Given the description of an element on the screen output the (x, y) to click on. 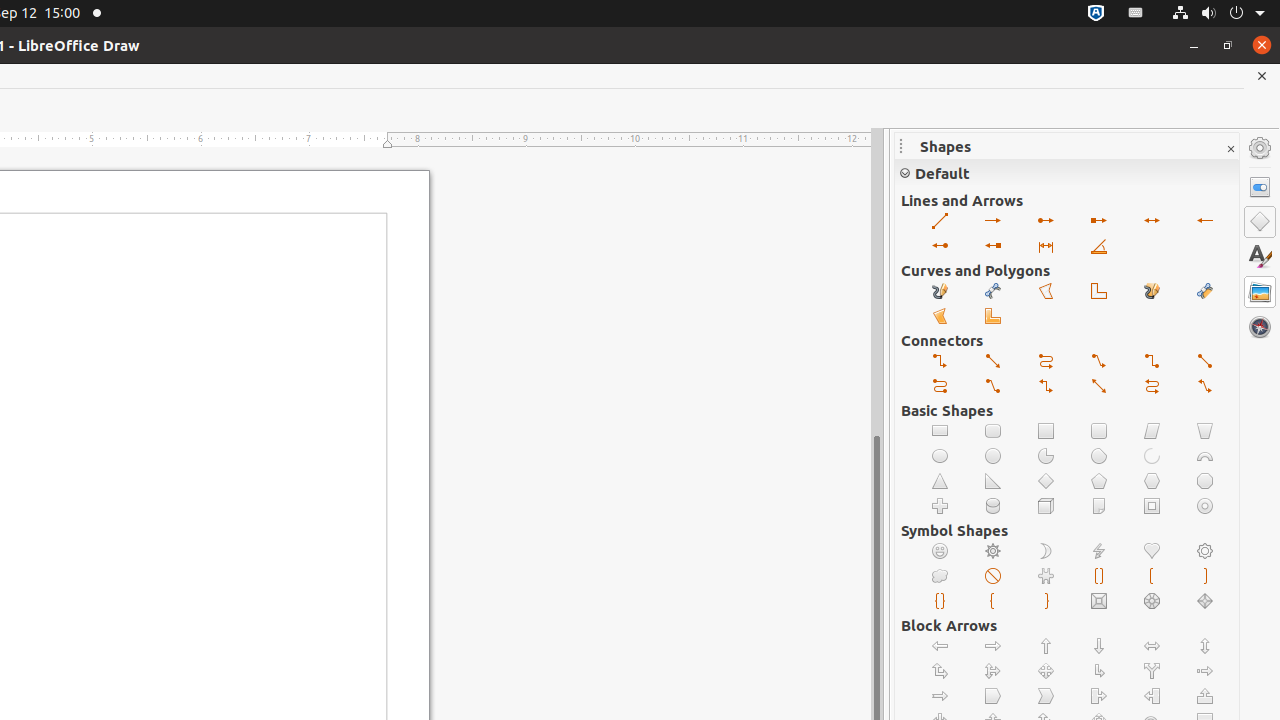
Straight Connector Element type: list-item (1205, 361)
Polygon (45°) Element type: list-item (1099, 291)
Line Connector Ends with Arrow Element type: list-item (1099, 361)
Arc Element type: list-item (1152, 456)
Square Element type: list-item (1046, 431)
